Given the description of an element on the screen output the (x, y) to click on. 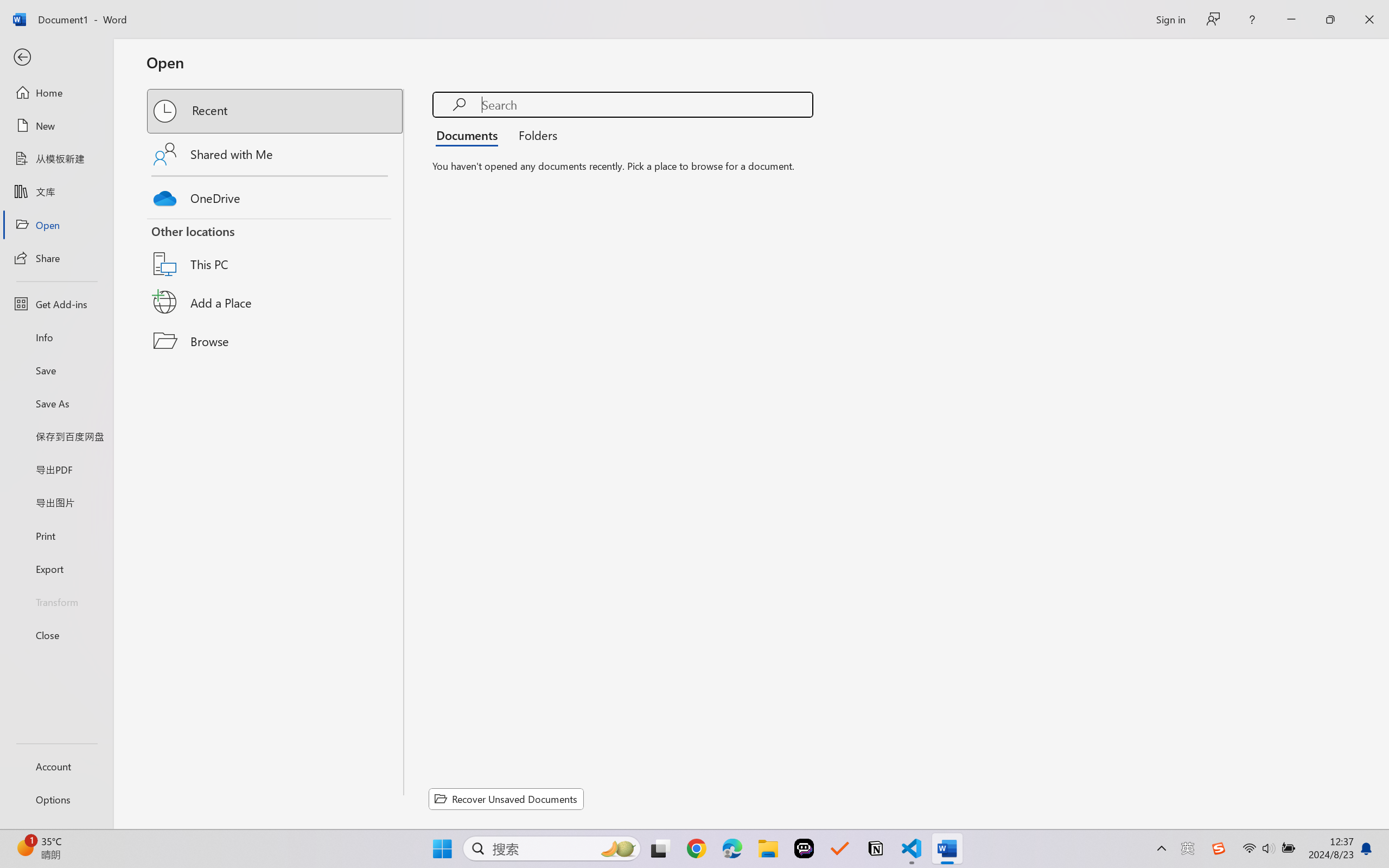
Transform (56, 601)
Save As (56, 403)
OneDrive (275, 195)
Info (56, 337)
Browse (275, 340)
Add a Place (275, 302)
Documents (469, 134)
